Given the description of an element on the screen output the (x, y) to click on. 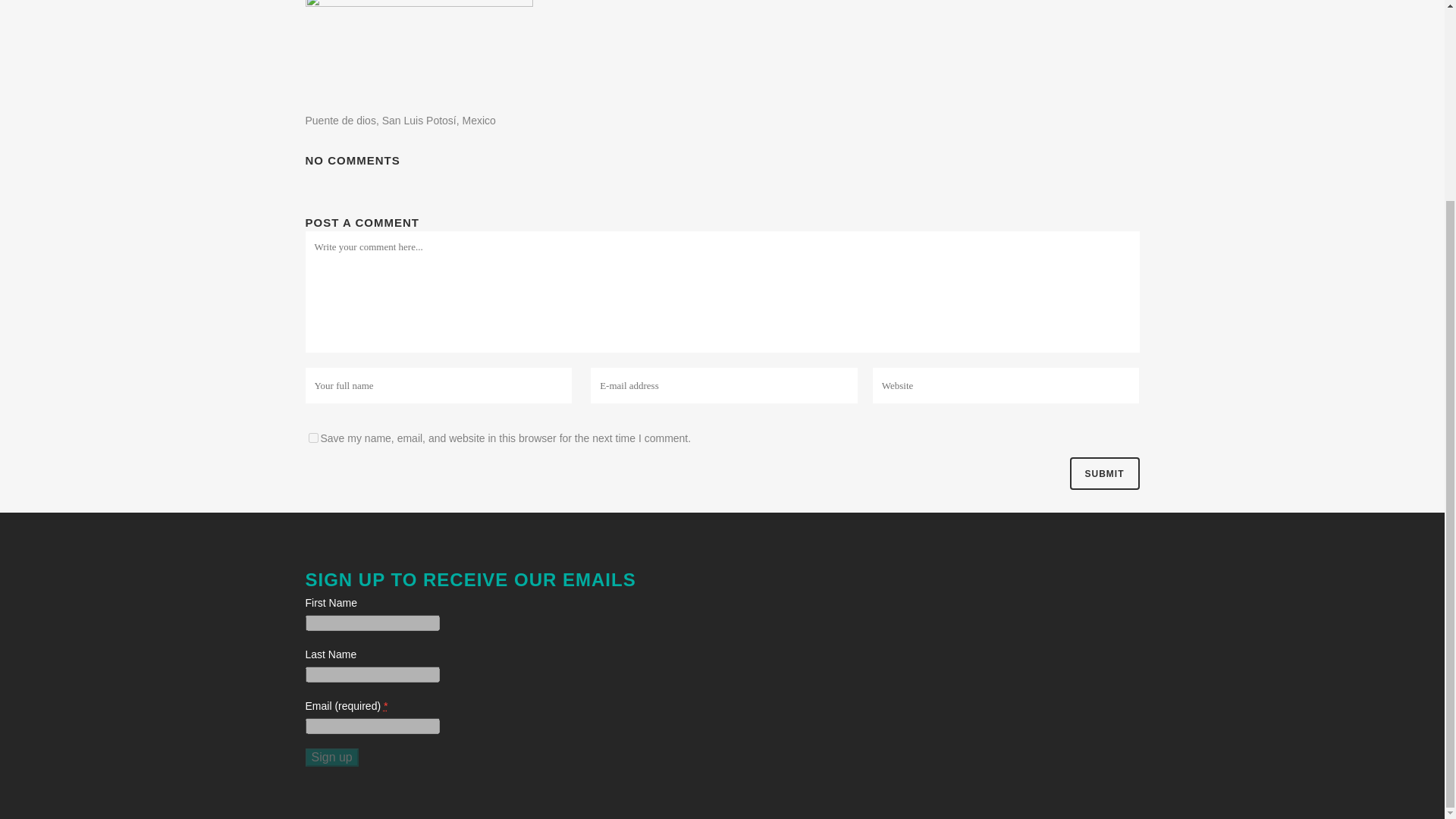
yes (312, 438)
Sign up (331, 757)
required (386, 705)
Submit (1103, 473)
